Given the description of an element on the screen output the (x, y) to click on. 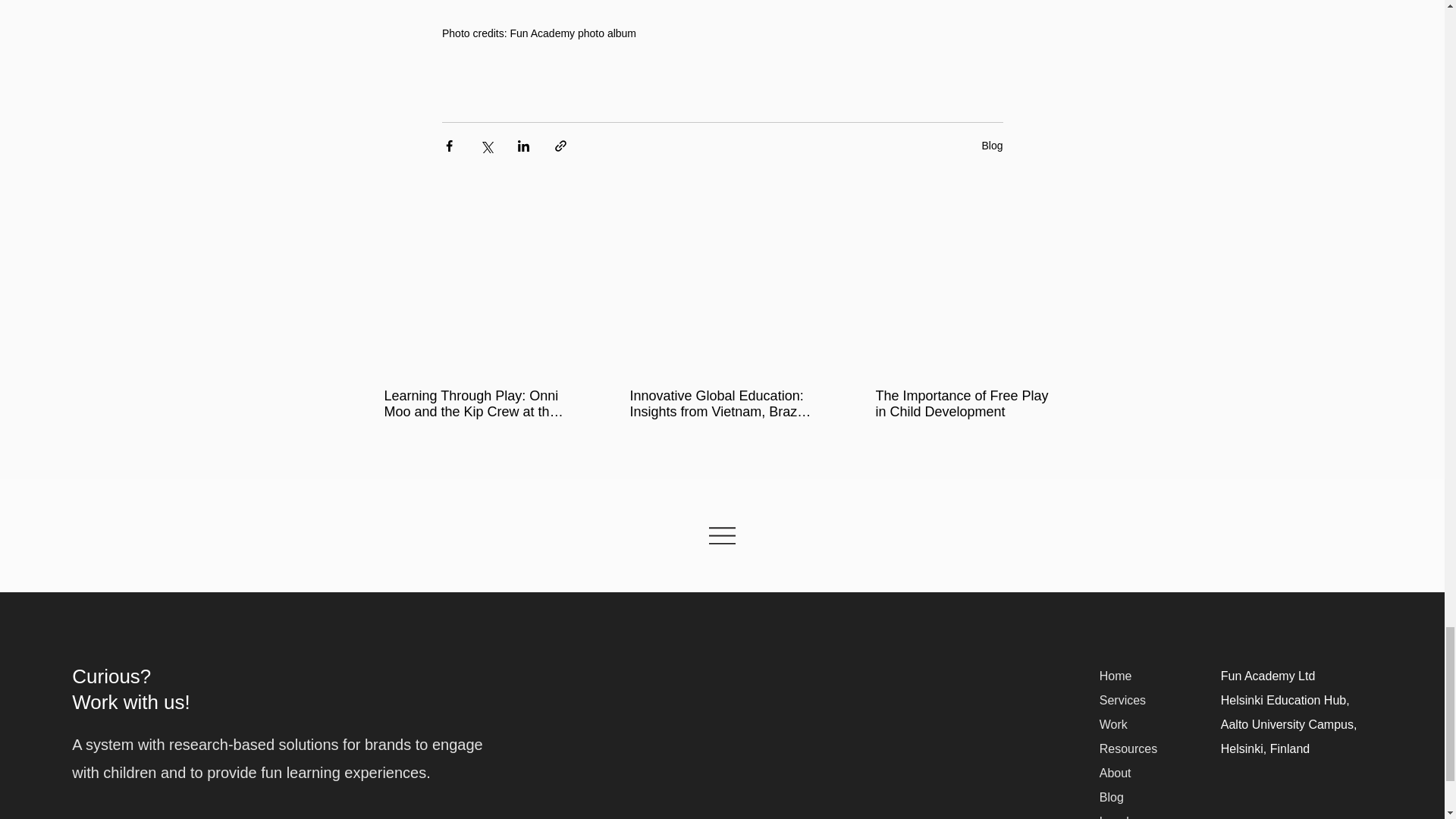
Legal (1114, 816)
Resources (1128, 748)
Home (1115, 675)
Blog (992, 145)
About (1115, 772)
Blog (1115, 805)
The Importance of Free Play in Child Development (966, 404)
Services (1122, 699)
